Given the description of an element on the screen output the (x, y) to click on. 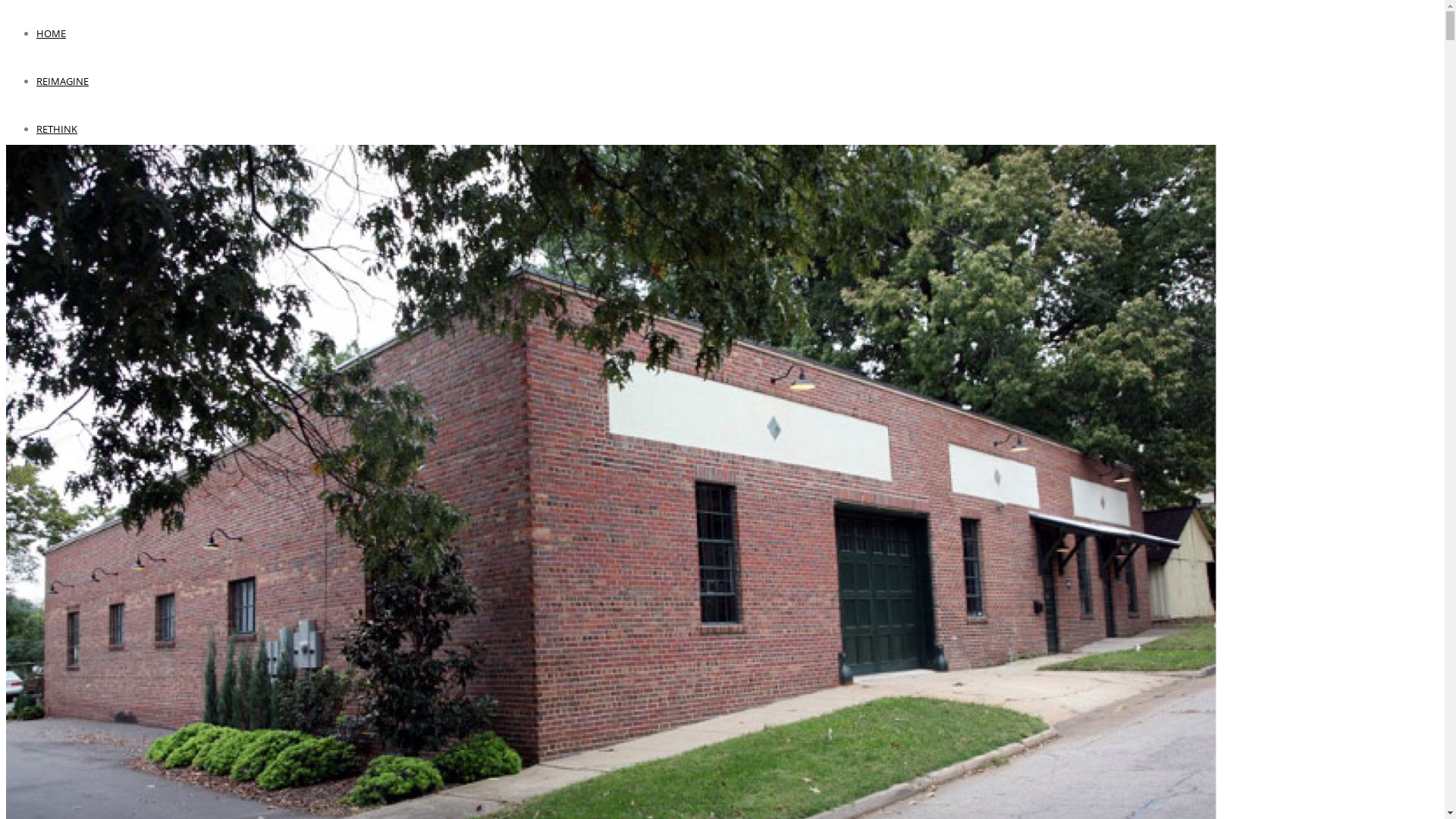
REMODEL Element type: text (58, 319)
REDESIGN Element type: text (63, 604)
REIMAGINE Element type: text (66, 543)
REWORK Element type: text (60, 756)
HOME Element type: text (50, 33)
REDESIGN Element type: text (59, 176)
RECYCLE Element type: text (55, 224)
RESEARCH Element type: text (60, 463)
RETHINK Element type: text (56, 128)
REWORK Element type: text (56, 415)
REBUILD Element type: text (60, 665)
HOME Element type: text (52, 513)
RECYCLE Element type: text (60, 634)
REMODEL Element type: text (62, 695)
RENEW Element type: text (52, 367)
RESEARCH Element type: text (65, 786)
REBUILD Element type: text (55, 272)
REIMAGINE Element type: text (62, 80)
RENEW Element type: text (56, 725)
RETHINK Element type: text (60, 574)
